Given the description of an element on the screen output the (x, y) to click on. 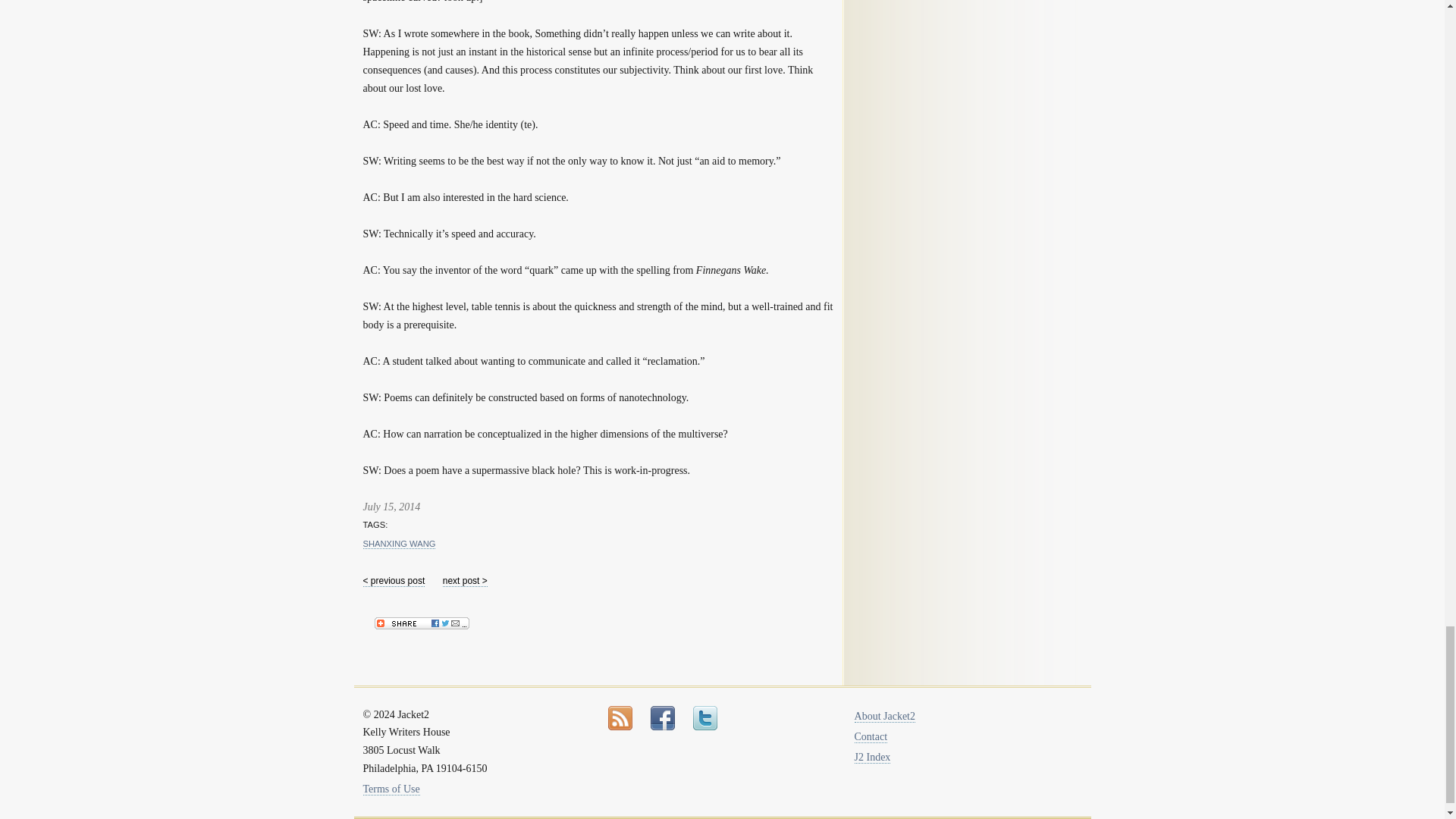
About us (884, 716)
Terms of Use (390, 788)
SHANXING WANG (398, 543)
